Given the description of an element on the screen output the (x, y) to click on. 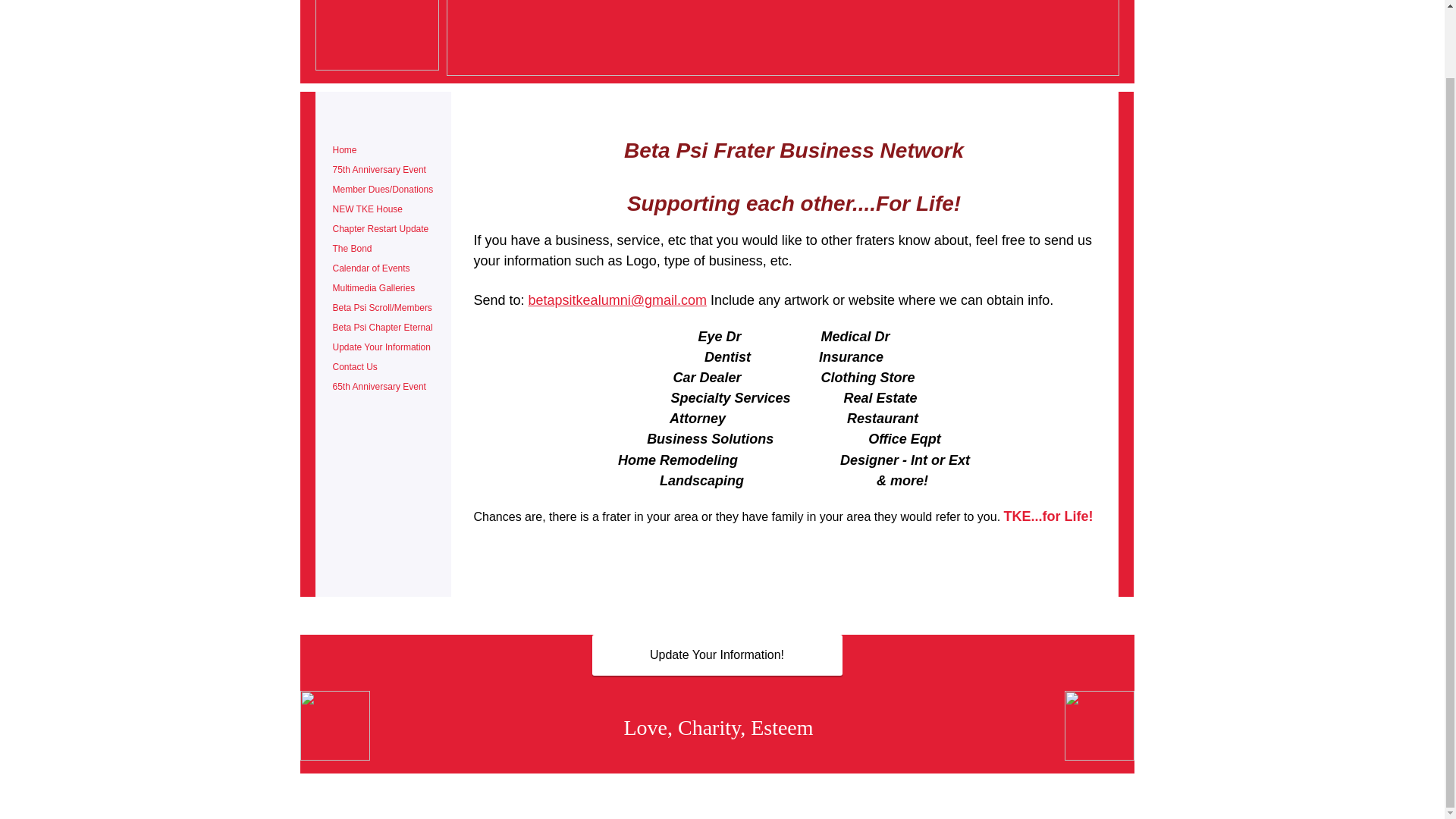
65th Anniversary Event (378, 386)
Multimedia Galleries (373, 288)
NEW TKE House (366, 209)
75th Anniversary Event (378, 170)
Calendar of Events (370, 268)
Contact Us (354, 366)
The Bond (351, 248)
Home (344, 149)
Chapter Restart Update (379, 229)
Update Your Information (381, 347)
